Given the description of an element on the screen output the (x, y) to click on. 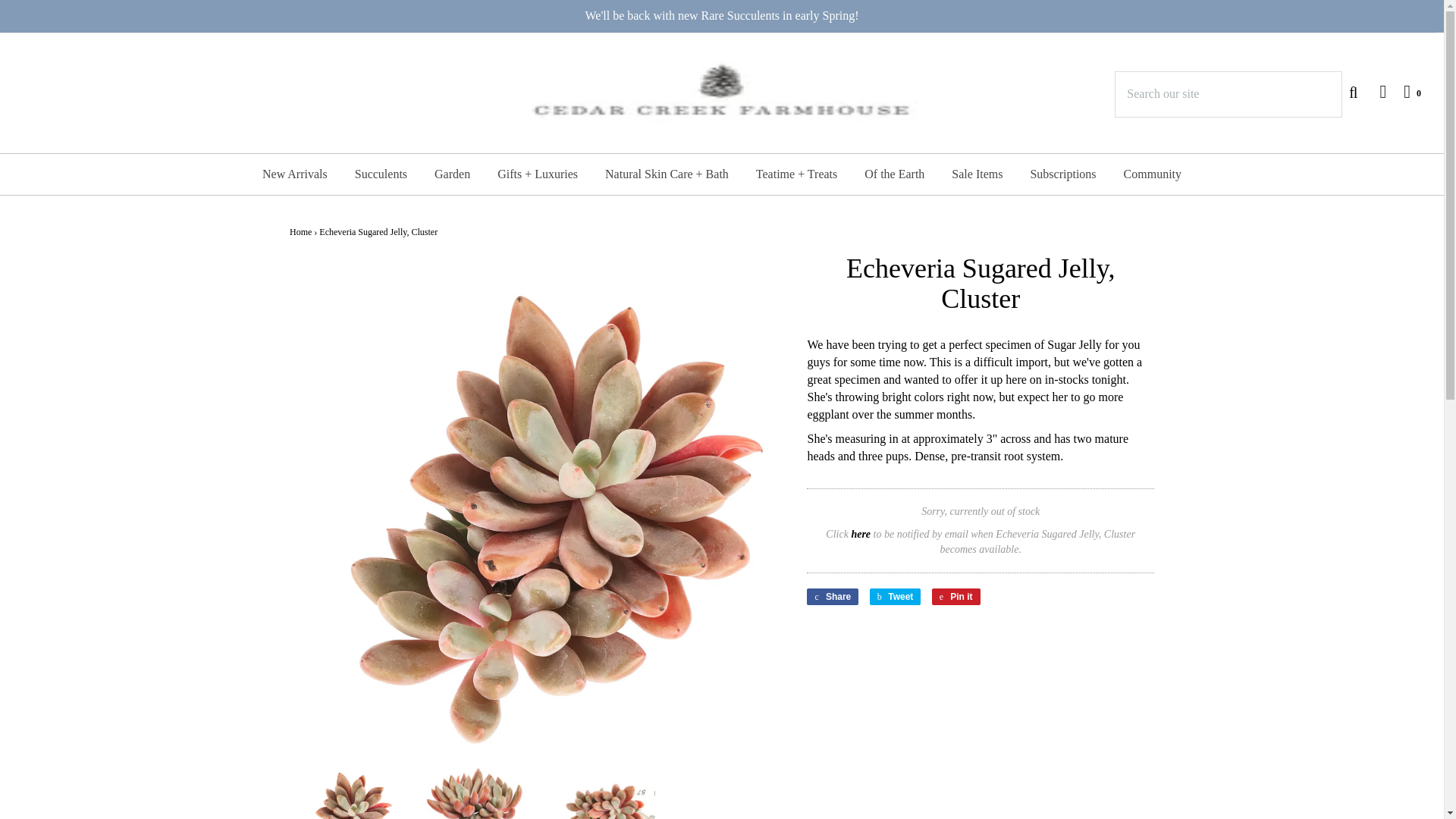
Echeveria Sugared Jelly, Cluster (601, 791)
Echeveria Sugared Jelly, Cluster (472, 791)
Echeveria Sugared Jelly, Cluster (342, 791)
Garden (452, 174)
0 (1405, 91)
Back to the frontpage (300, 231)
Search our site (1228, 94)
Succulents (381, 174)
Your Cart (1405, 91)
We'll be back with new Rare Succulents in early Spring! (722, 16)
New Arrivals (294, 174)
Log in (1375, 91)
